Given the description of an element on the screen output the (x, y) to click on. 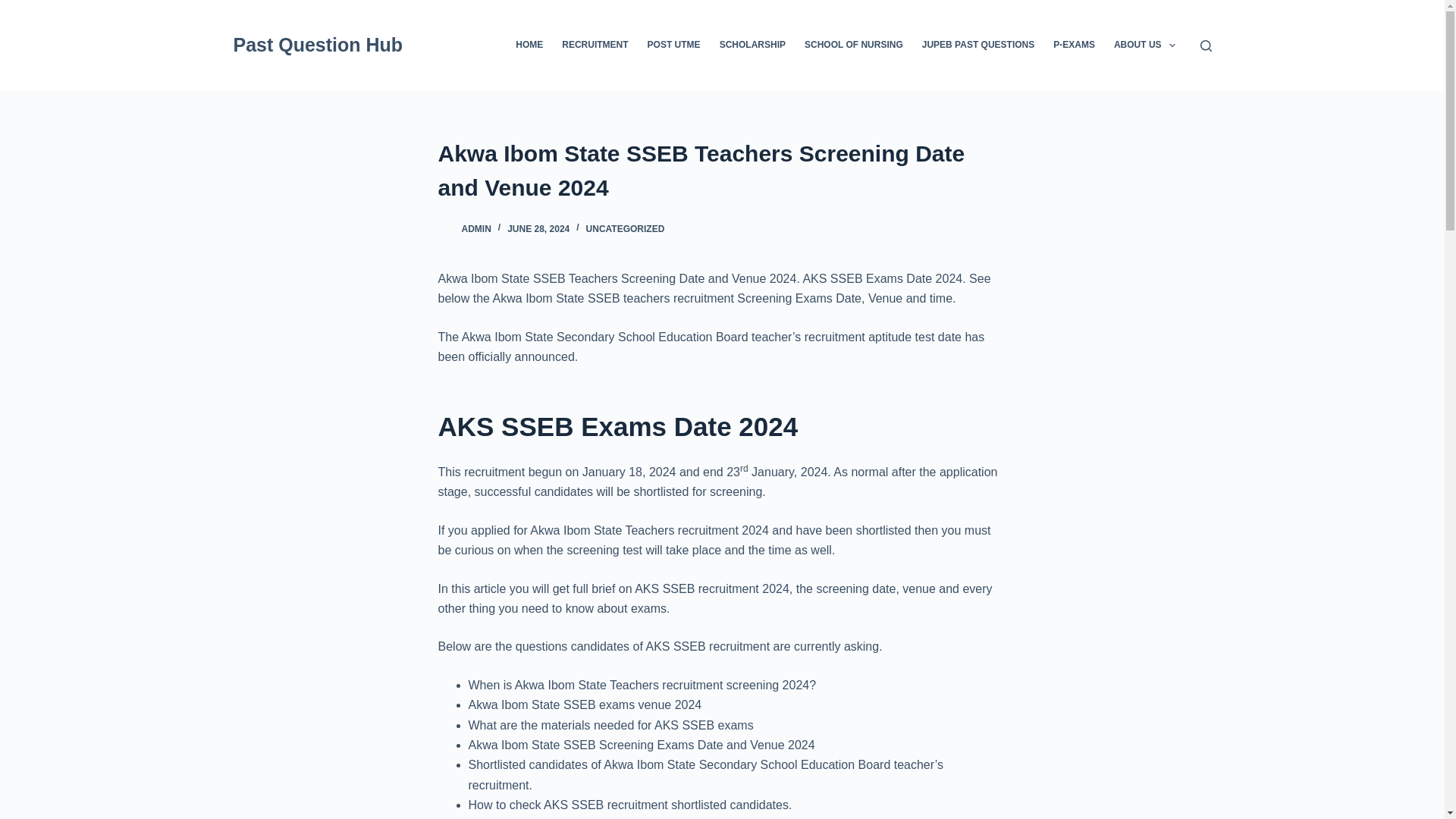
RECRUITMENT (595, 45)
Akwa Ibom State SSEB Teachers Screening Date and Venue 2024 (722, 170)
ADMIN (475, 228)
Posts by admin (475, 228)
SCHOLARSHIP (752, 45)
Skip to content (15, 7)
SCHOOL OF NURSING (853, 45)
UNCATEGORIZED (625, 228)
JUPEB PAST QUESTIONS (977, 45)
Past Question Hub (317, 44)
